Given the description of an element on the screen output the (x, y) to click on. 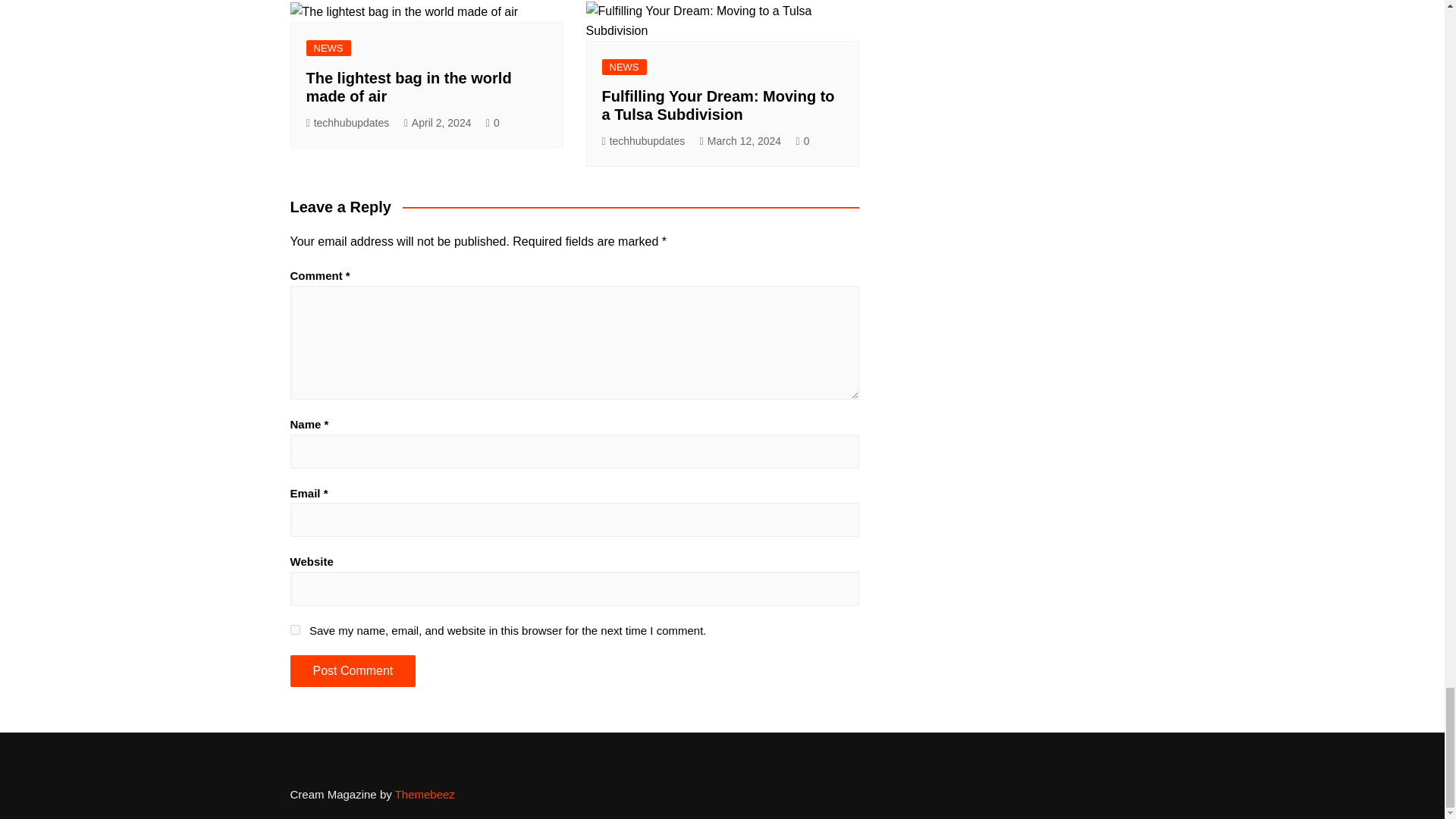
Post Comment (351, 671)
yes (294, 629)
